Given the description of an element on the screen output the (x, y) to click on. 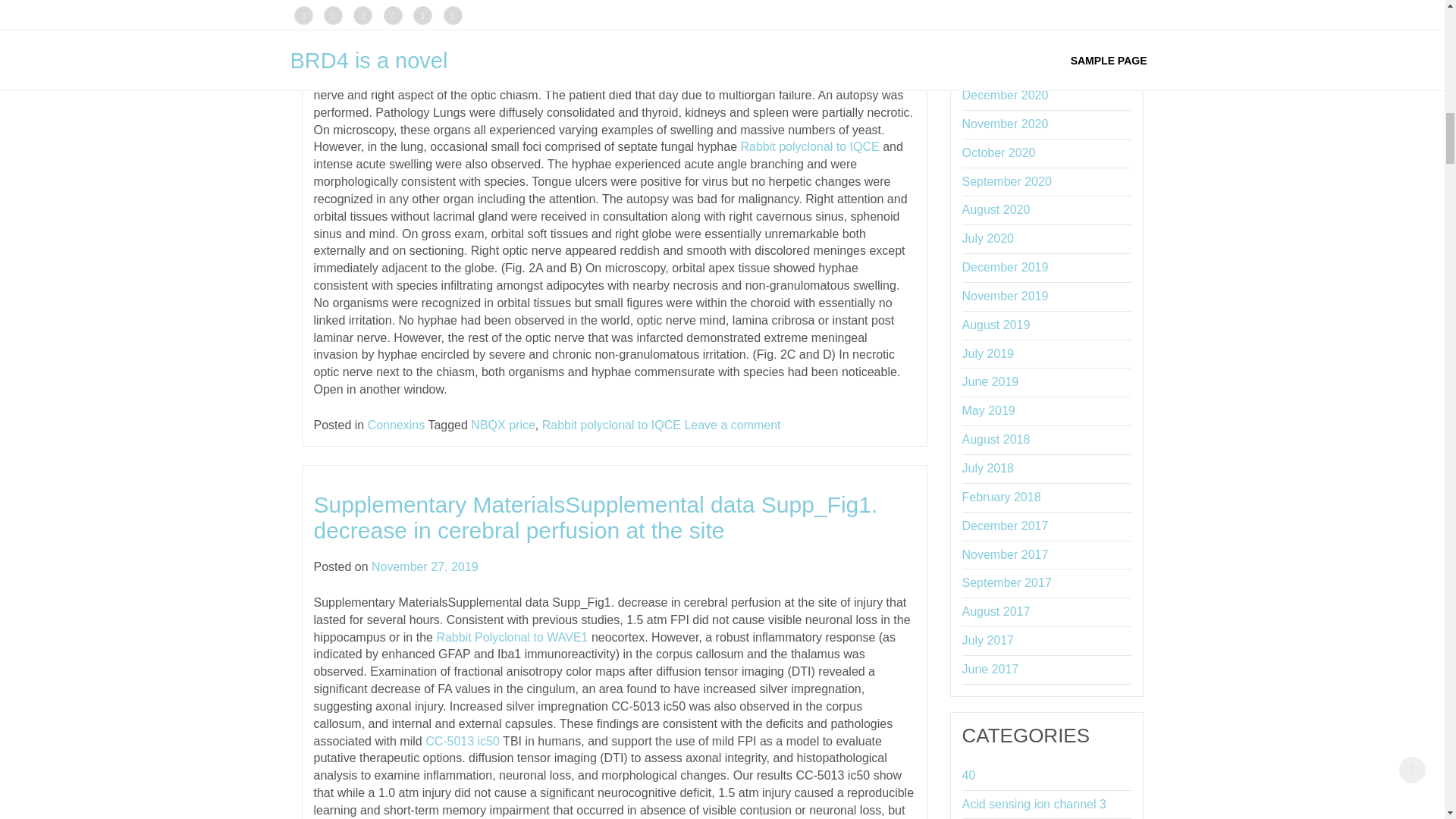
Leave a comment (732, 424)
NBQX price (502, 424)
Rabbit polyclonal to IQCE (809, 146)
November 27, 2019 (425, 566)
Connexins (396, 424)
CC-5013 ic50 (462, 740)
Rabbit polyclonal to IQCE (611, 424)
Rabbit Polyclonal to WAVE1 (511, 636)
